Given the description of an element on the screen output the (x, y) to click on. 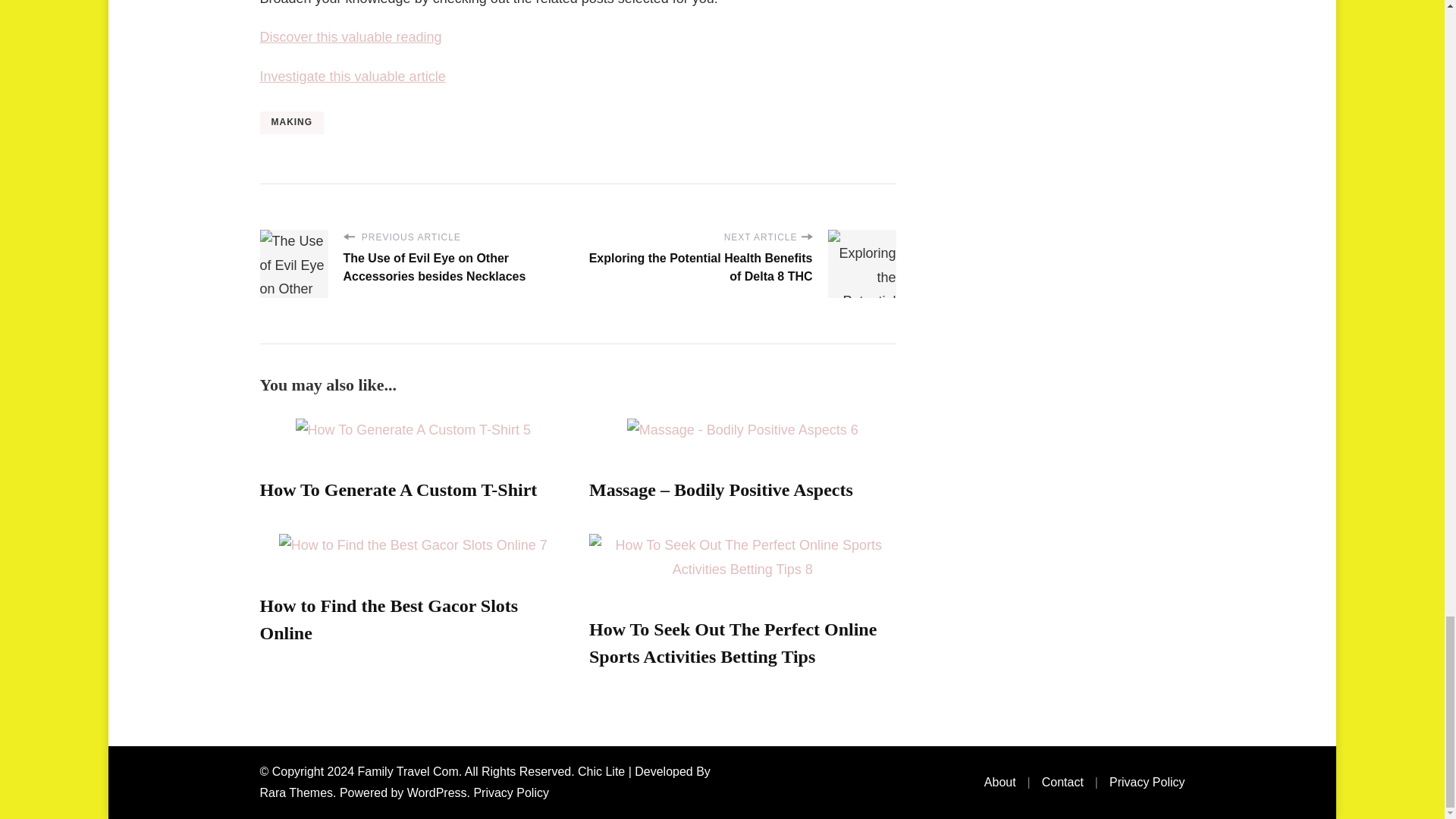
How to Find the Best Gacor Slots Online (388, 619)
How To Generate A Custom T-Shirt (398, 489)
Discover this valuable reading (350, 37)
Investigate this valuable article (352, 76)
MAKING (291, 122)
